Given the description of an element on the screen output the (x, y) to click on. 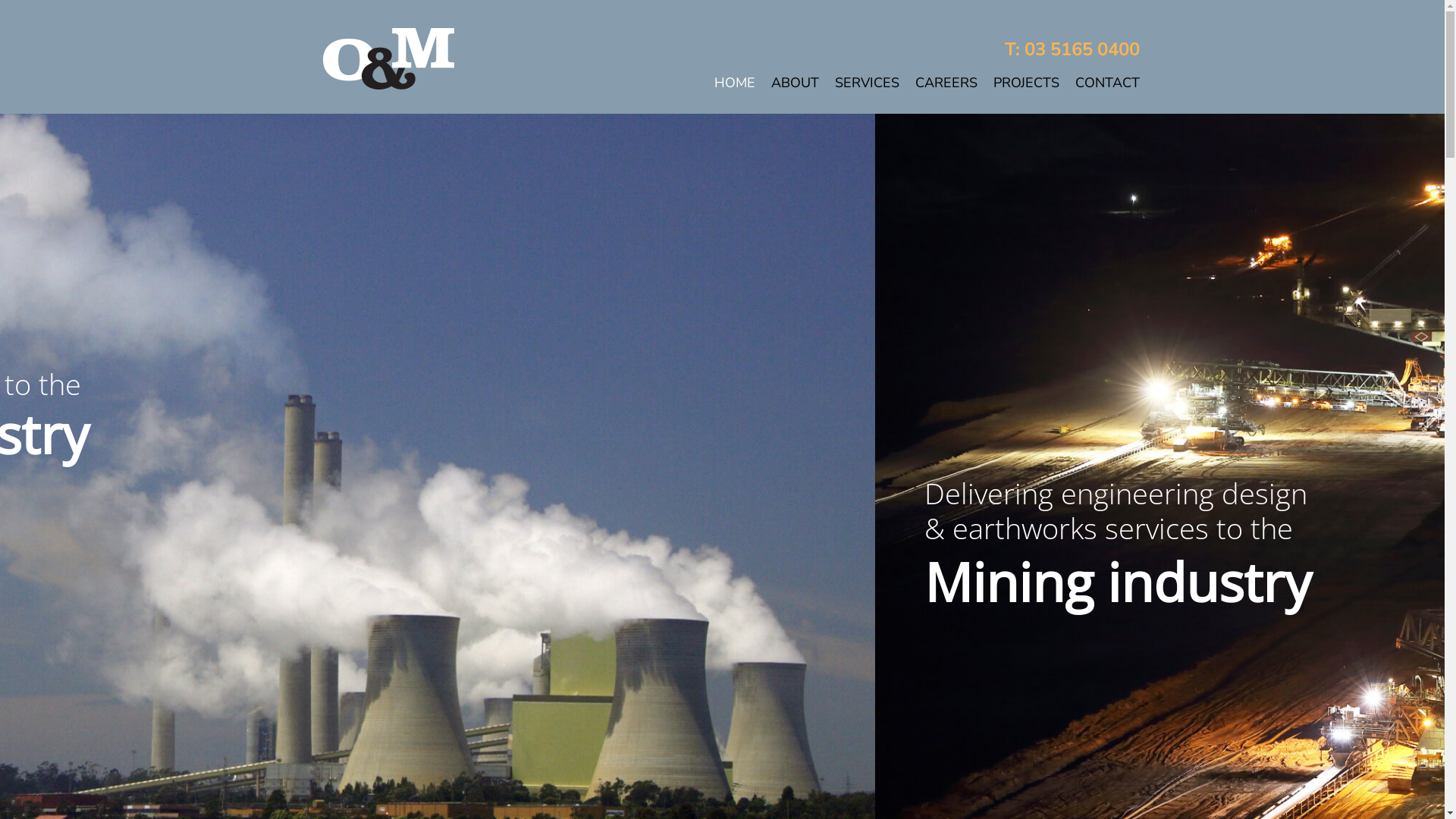
CAREERS Element type: text (938, 82)
T: 03 5165 0400 Element type: text (1071, 49)
PROJECTS Element type: text (1018, 82)
SERVICES Element type: text (859, 82)
OM-logo-reversed-180px Element type: hover (388, 58)
ABOUT Element type: text (787, 82)
HOME Element type: text (727, 82)
CONTACT Element type: text (1099, 82)
